Given the description of an element on the screen output the (x, y) to click on. 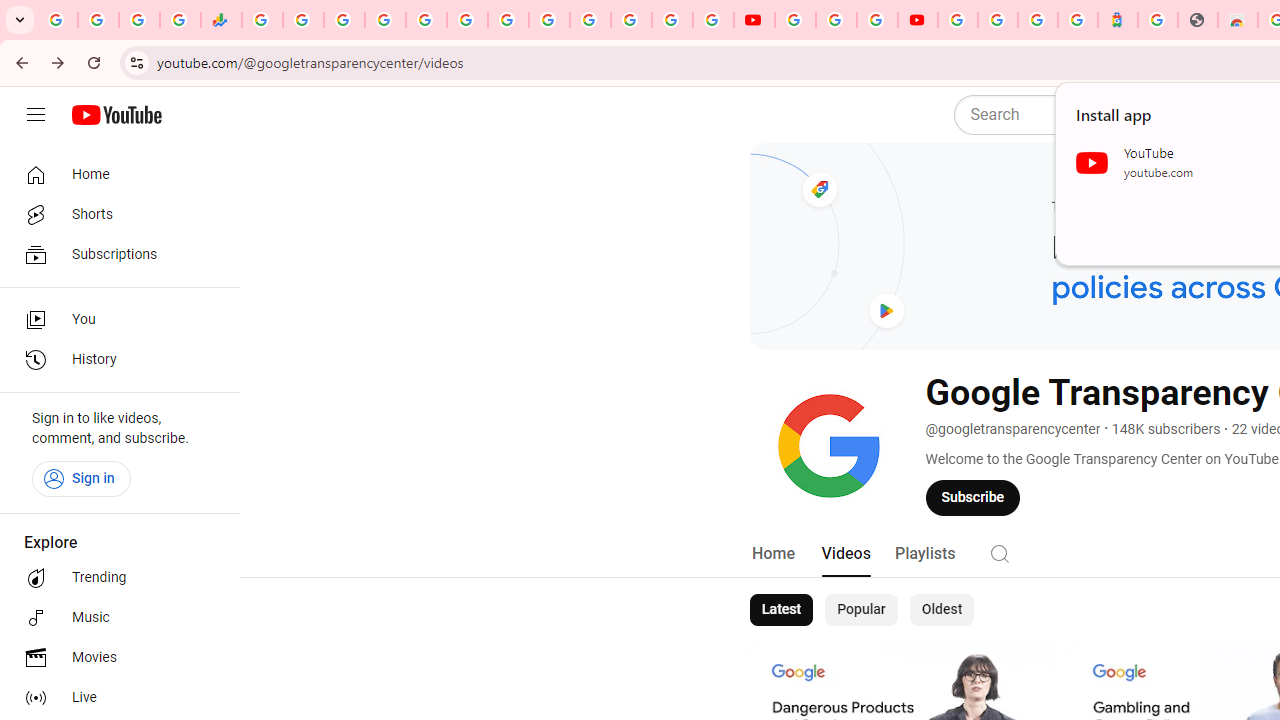
Chrome Web Store - Household (1238, 20)
Sign in - Google Accounts (671, 20)
Home (113, 174)
Subscriptions (113, 254)
Google Account Help (836, 20)
Google Workspace Admin Community (57, 20)
Trending (113, 578)
Create your Google Account (877, 20)
Shorts (113, 214)
Content Creator Programs & Opportunities - YouTube Creators (918, 20)
Oldest (941, 609)
